Given the description of an element on the screen output the (x, y) to click on. 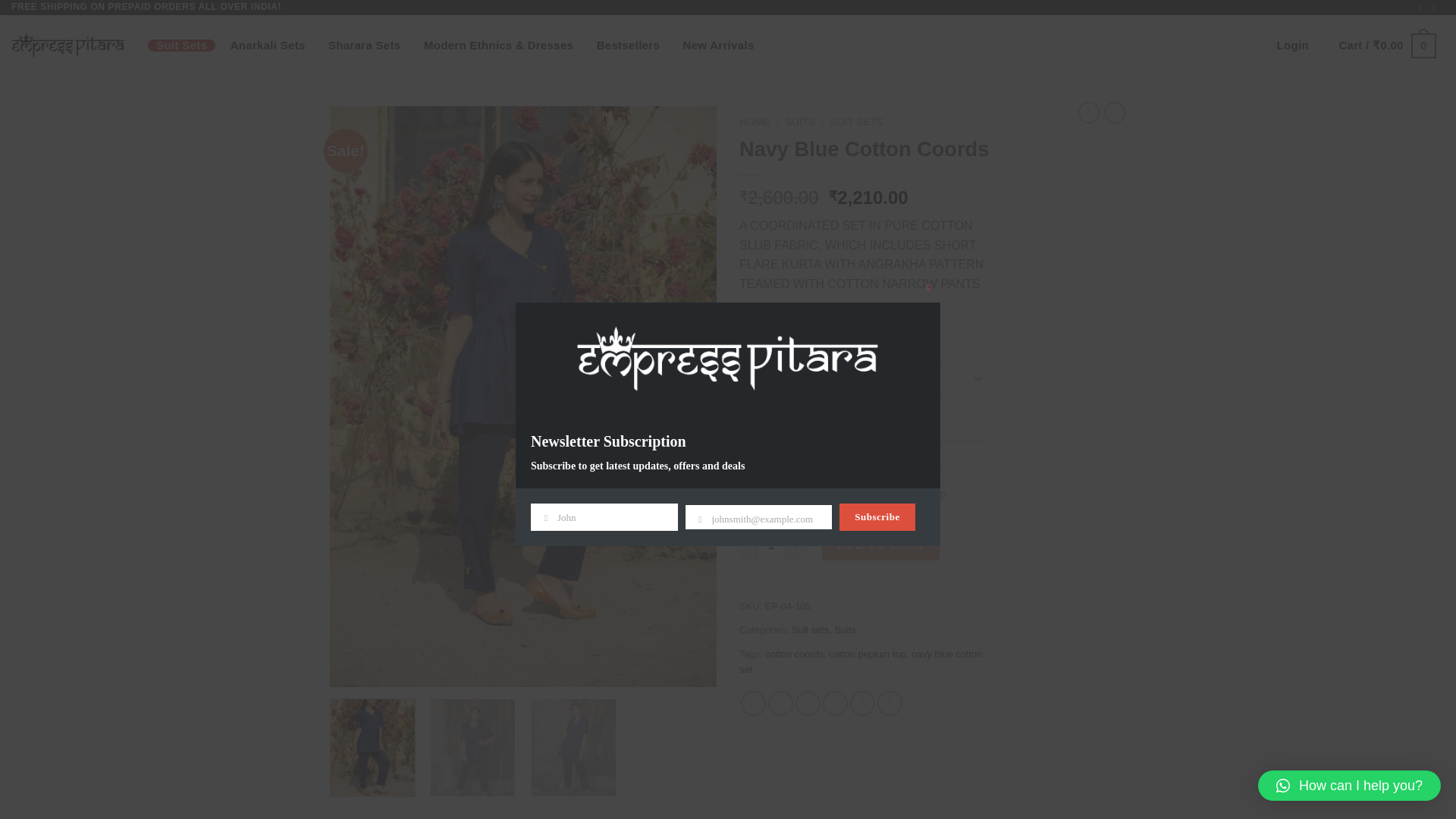
New Arrivals (717, 45)
HOME (754, 121)
Cart (1387, 45)
Empress Pitara (68, 45)
Anarkali Sets (267, 45)
ADD TO CART (881, 544)
Sharara Sets (364, 45)
Suits (845, 629)
Suit sets (810, 629)
Login (1292, 45)
cotton coords (794, 654)
SUITS (799, 121)
Bestsellers (628, 45)
Qty (770, 544)
Suit Sets (181, 45)
